Given the description of an element on the screen output the (x, y) to click on. 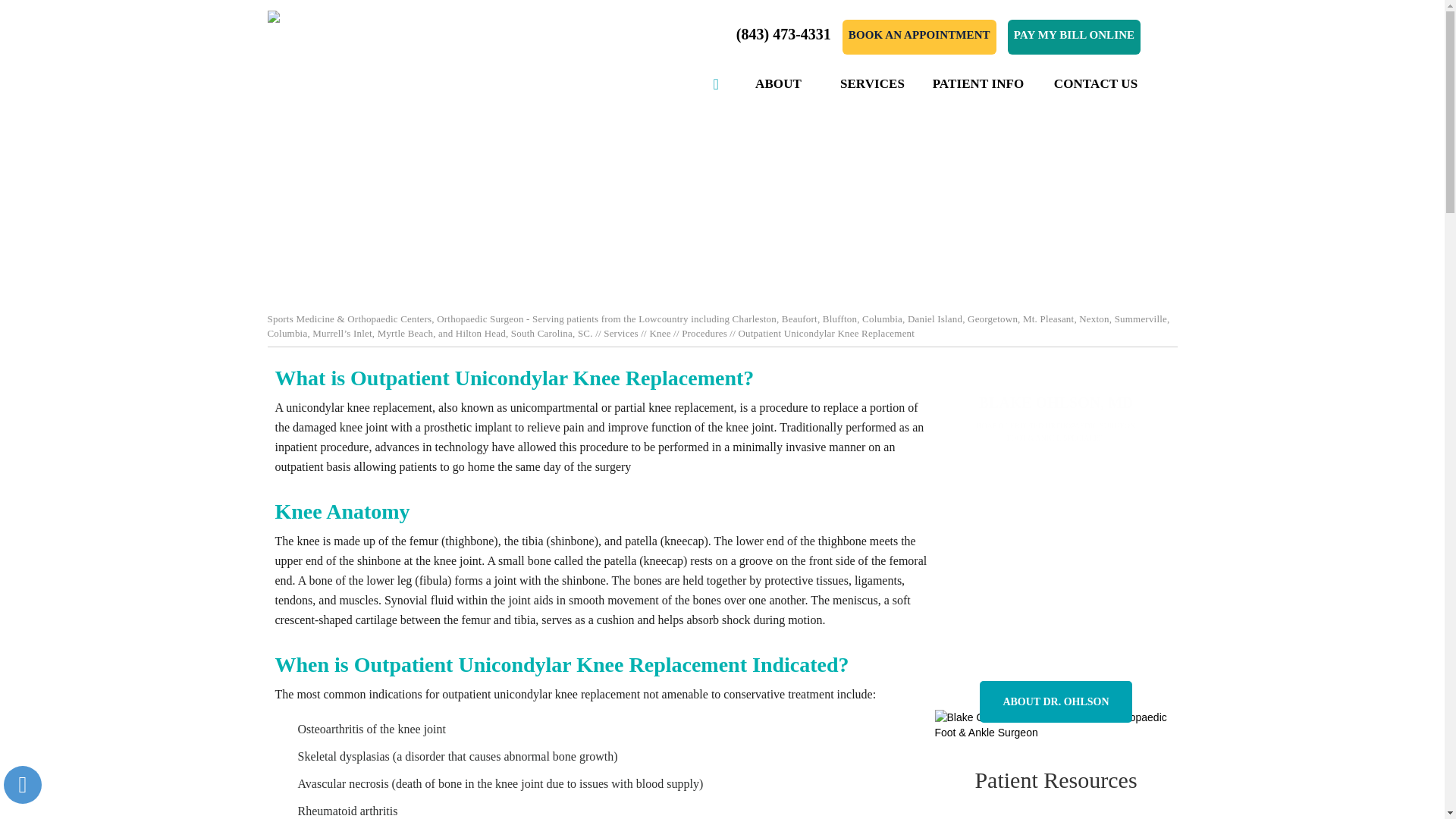
Hide (22, 784)
ABOUT (777, 84)
PAY MY BILL ONLINE (1073, 36)
BOOK AN APPOINTMENT (919, 36)
SERVICES (871, 84)
Accessible Tool Options (23, 784)
